Given the description of an element on the screen output the (x, y) to click on. 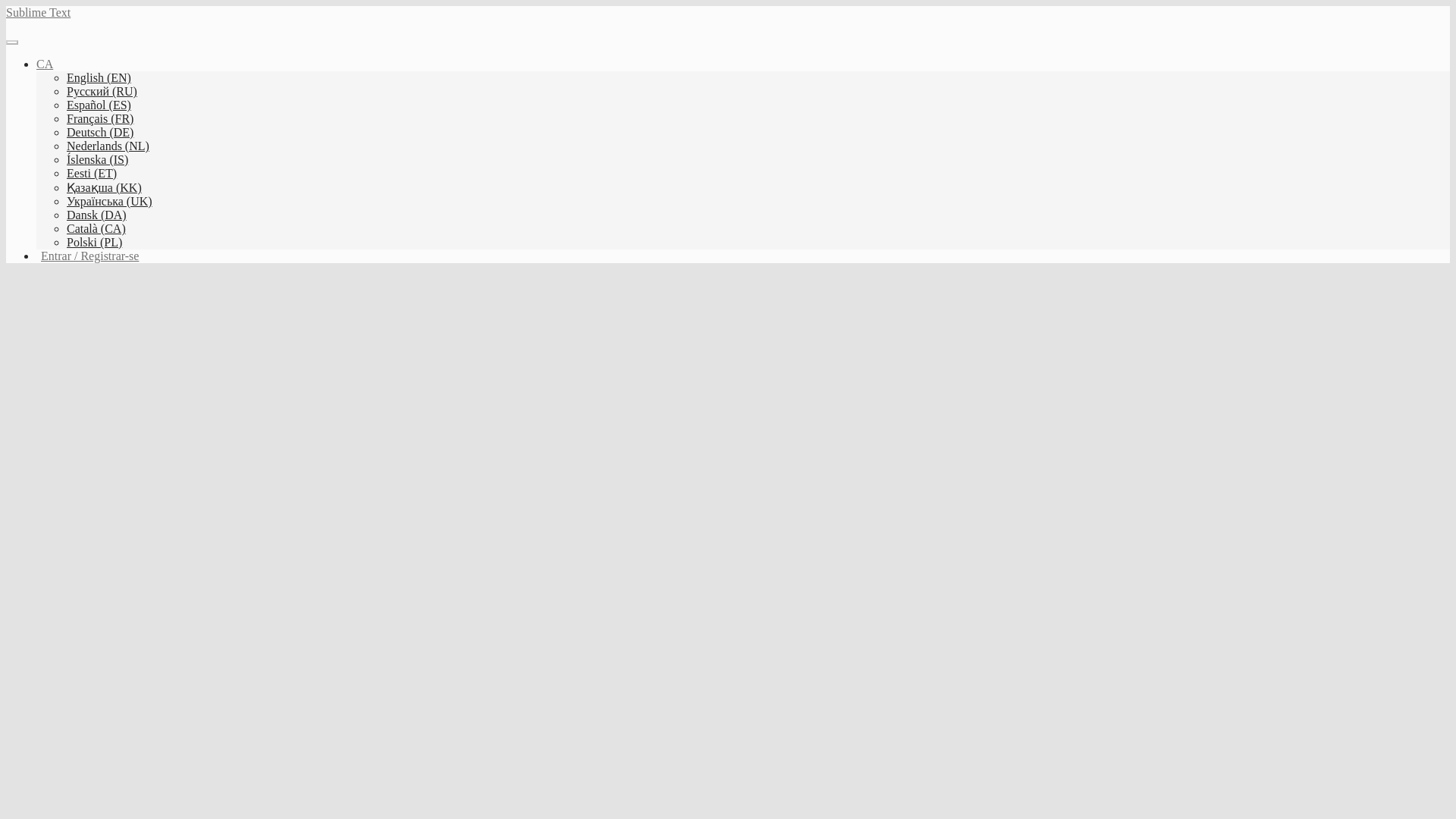
CA (44, 63)
Sublime Text (37, 11)
